Given the description of an element on the screen output the (x, y) to click on. 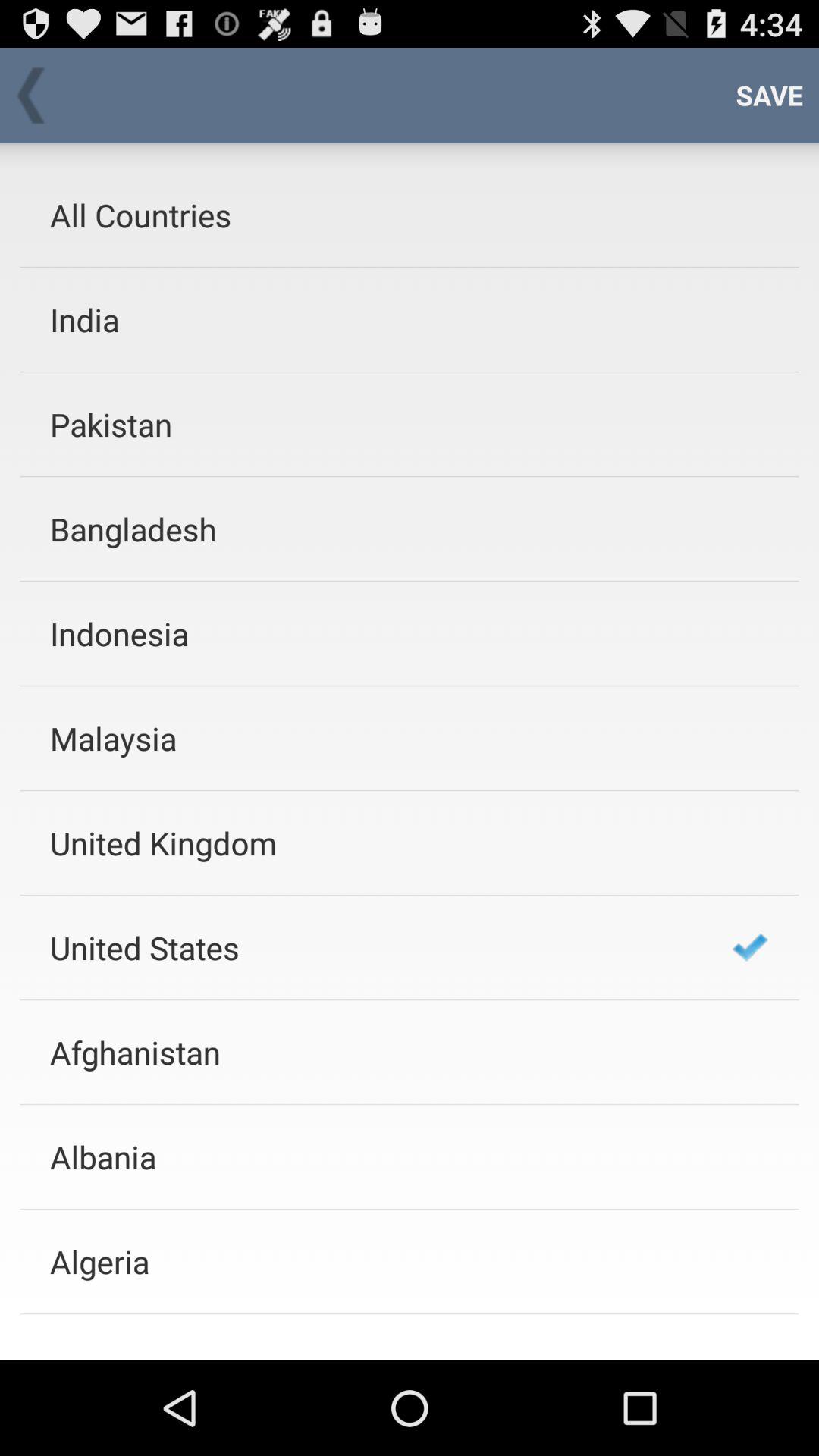
launch the icon above the malaysia (371, 633)
